Given the description of an element on the screen output the (x, y) to click on. 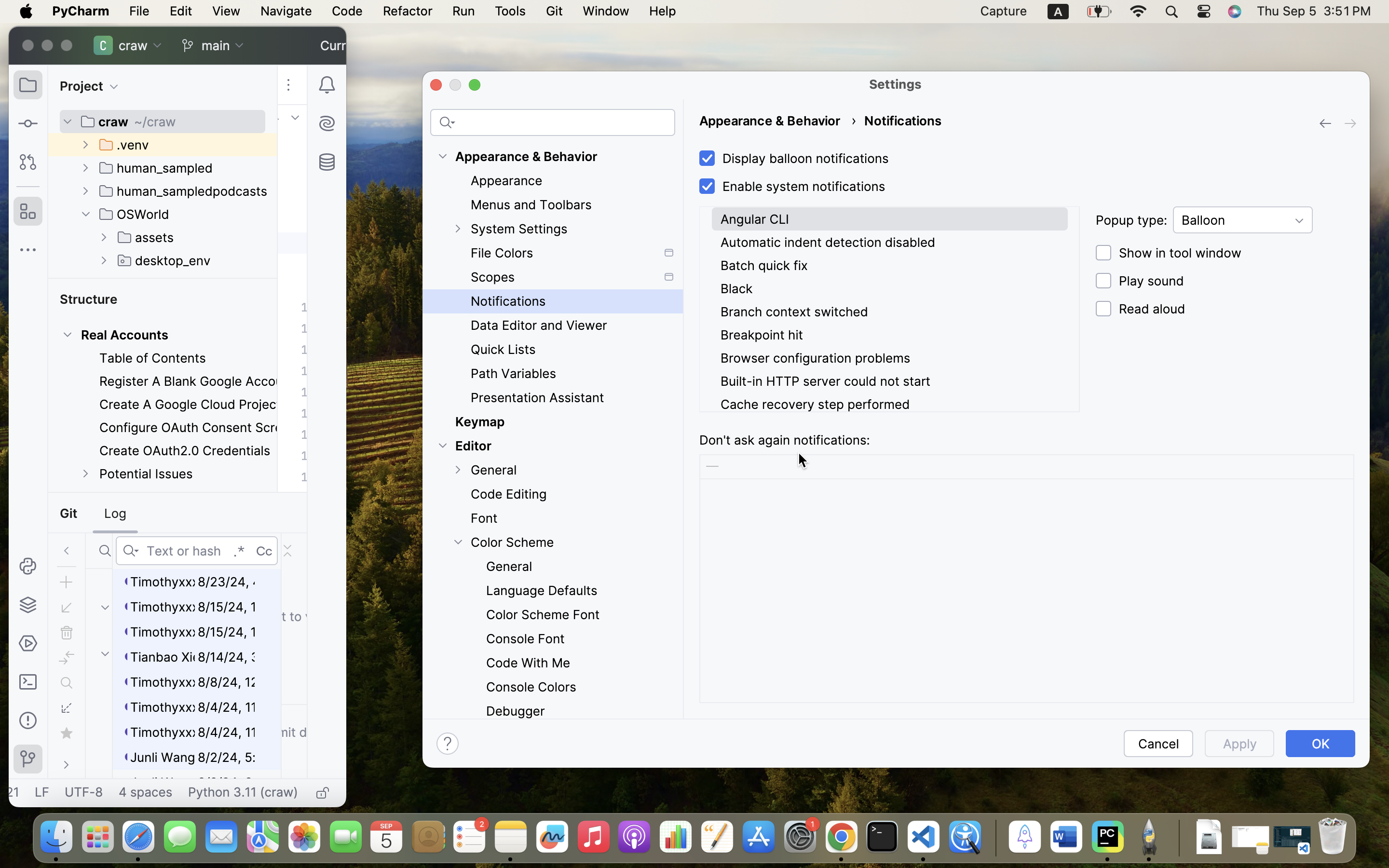
Settings Element type: AXStaticText (895, 83)
Balloon Element type: AXPopUpButton (1242, 219)
